Given the description of an element on the screen output the (x, y) to click on. 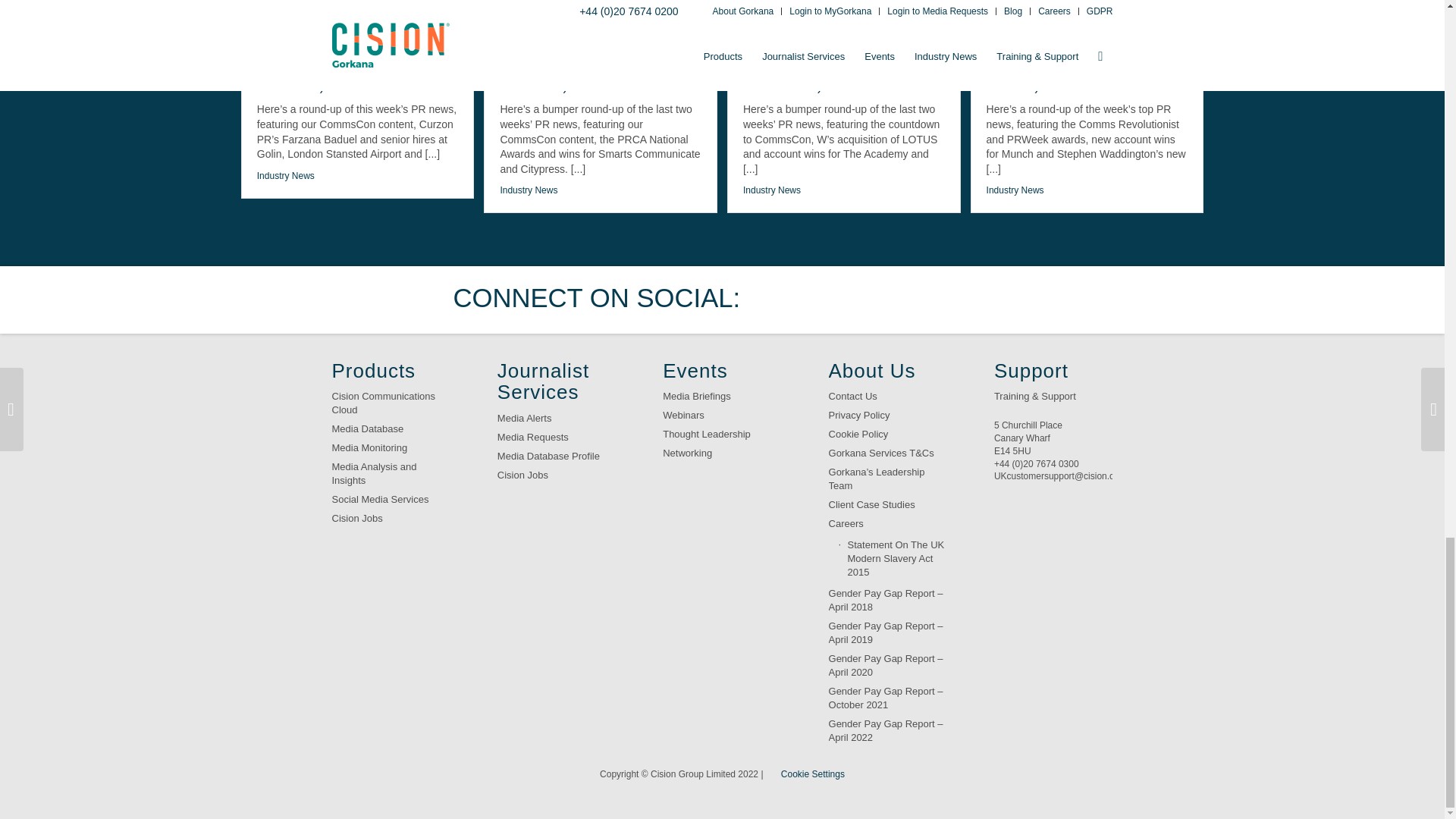
connect on Facebook (824, 298)
connect on Instagram (966, 298)
connect on YouTube (918, 298)
connect on Twitter (777, 298)
connect on Linkedin (872, 298)
